Given the description of an element on the screen output the (x, y) to click on. 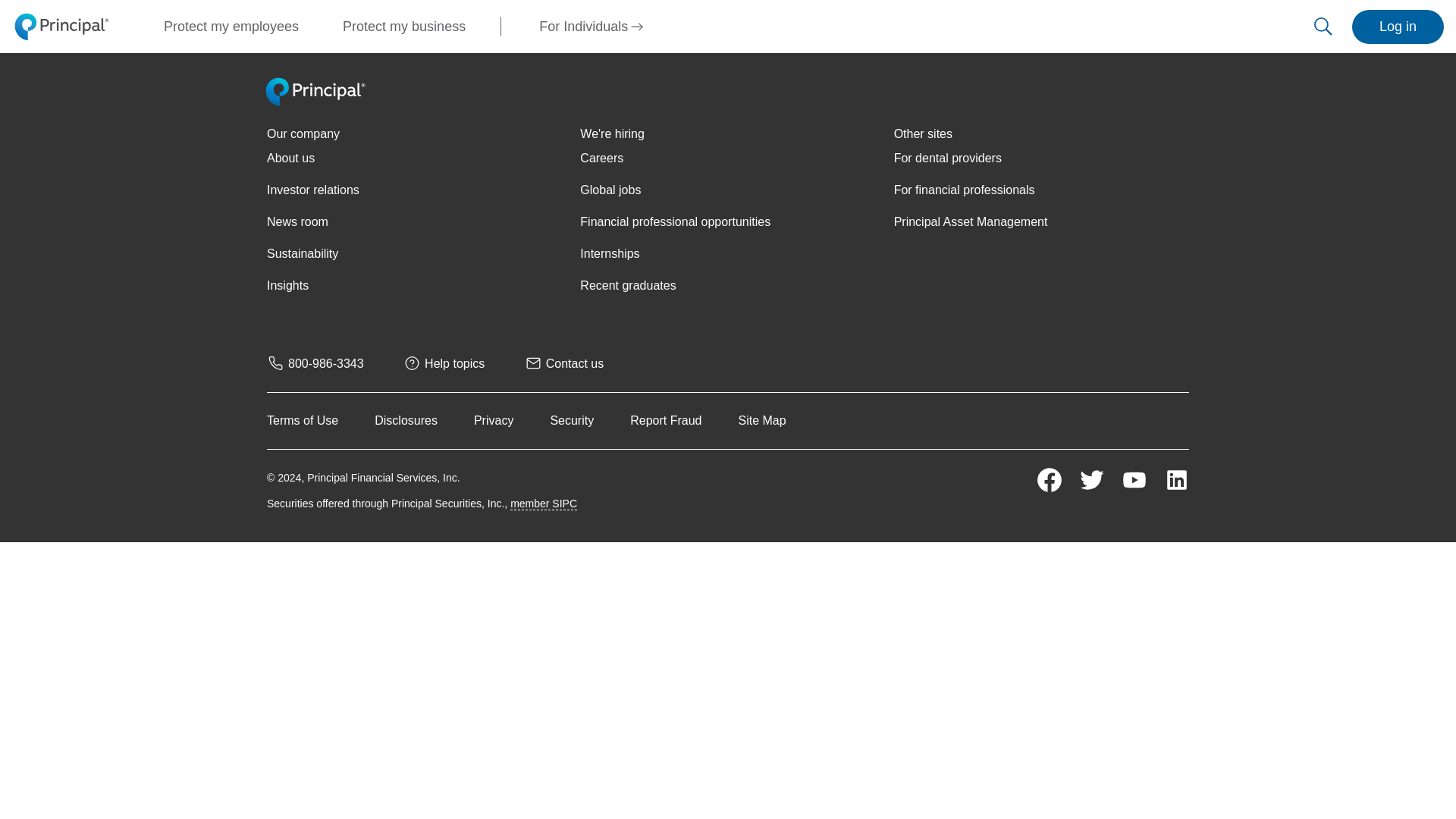
Protect my employees (236, 26)
Protect my business (408, 26)
For Individuals (590, 26)
Log in (1398, 26)
Home (316, 101)
